Given the description of an element on the screen output the (x, y) to click on. 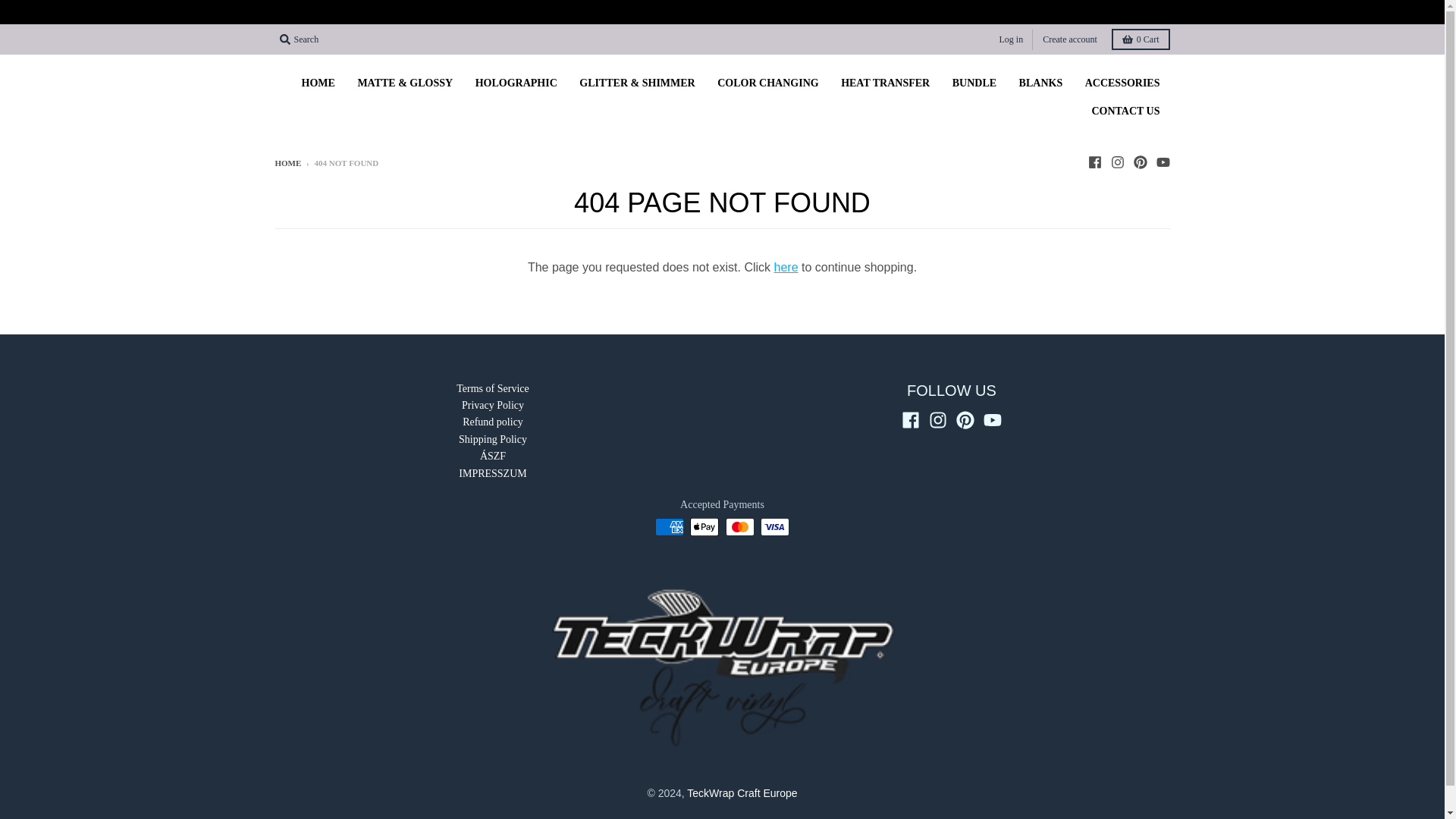
Instagram - TeckWrap Craft Europe (937, 420)
Facebook - TeckWrap Craft Europe (1093, 161)
HOME (318, 83)
Facebook - TeckWrap Craft Europe (910, 420)
0 Cart (1141, 38)
Search (299, 38)
Log in (1010, 38)
Back to the frontpage (288, 162)
Pinterest - TeckWrap Craft Europe (1139, 161)
YouTube - TeckWrap Craft Europe (1162, 161)
